Given the description of an element on the screen output the (x, y) to click on. 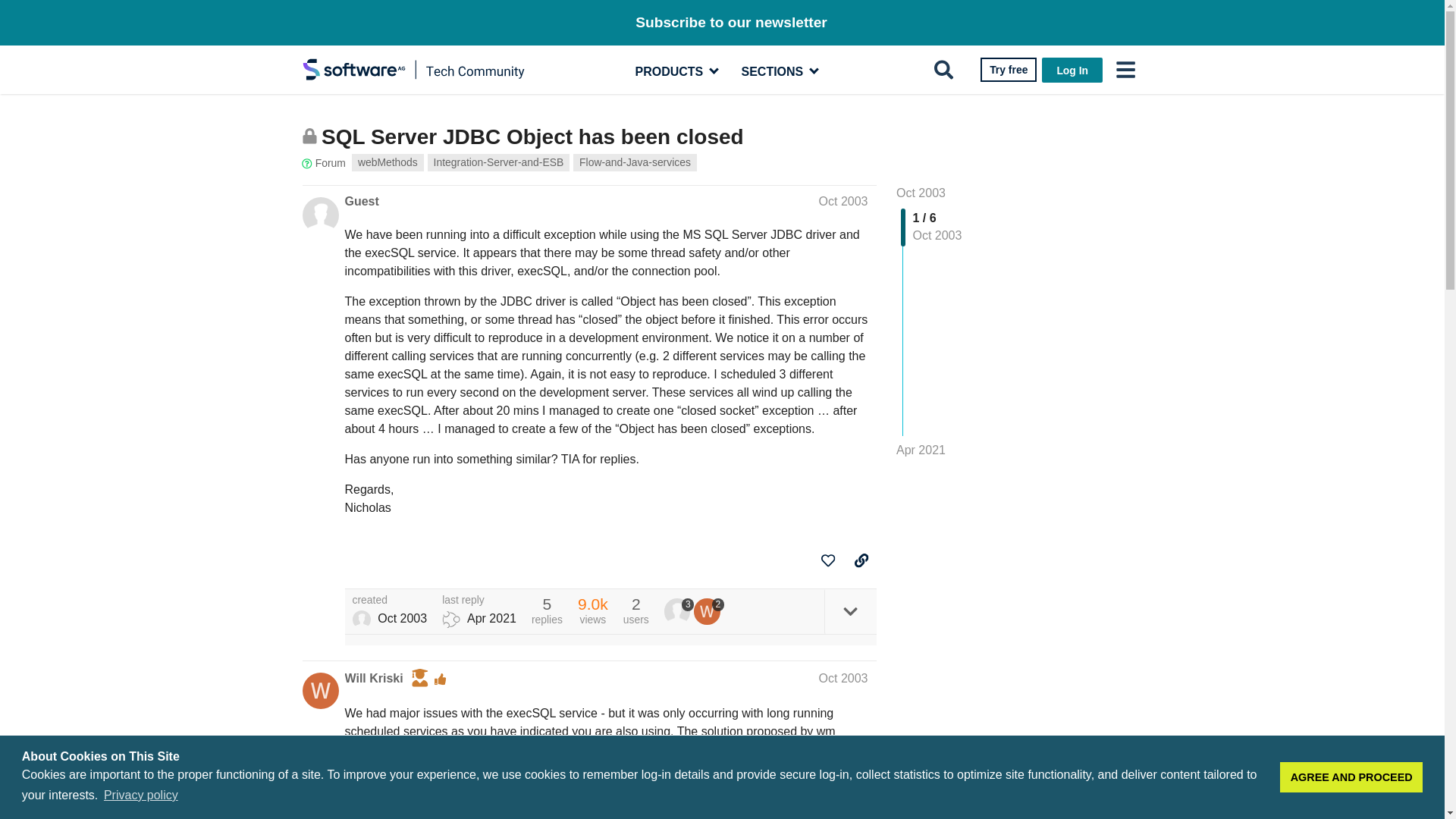
Jump to the last post (920, 449)
Search (943, 69)
Try free (1008, 69)
Jump to the first post (499, 162)
AGREE AND PROCEED (920, 192)
Try free (1350, 777)
This topic is closed; it no longer accepts new replies (387, 162)
Log In (1008, 69)
Post date (309, 135)
member (1072, 69)
menu (842, 201)
Subscribe to our newsletter (339, 192)
